Given the description of an element on the screen output the (x, y) to click on. 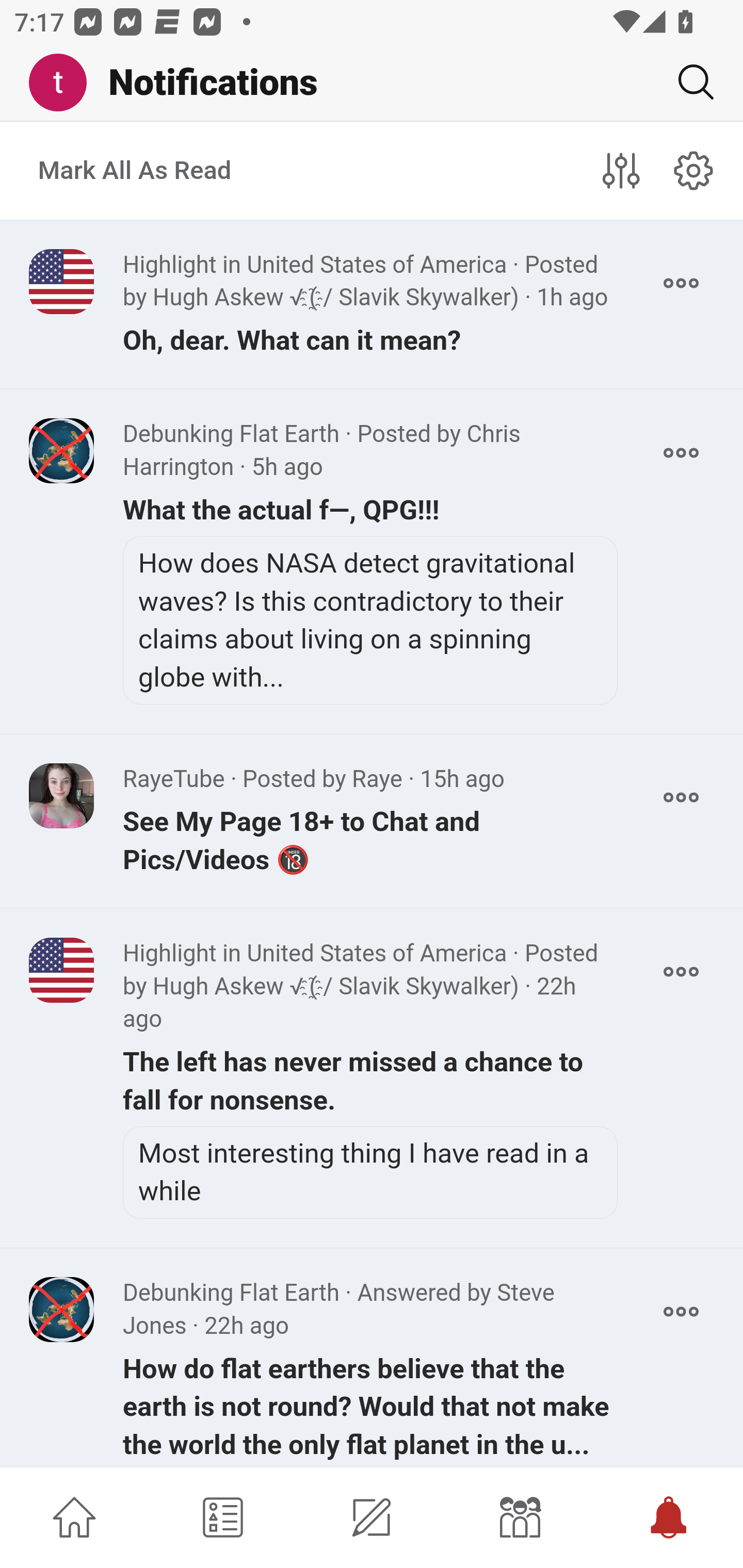
Me Notifications Search (371, 82)
Me (64, 83)
Search (688, 82)
Mark All As Read (135, 171)
notifications# (693, 170)
More (681, 282)
More (681, 452)
More (681, 797)
More (681, 972)
More (681, 1311)
